Given the description of an element on the screen output the (x, y) to click on. 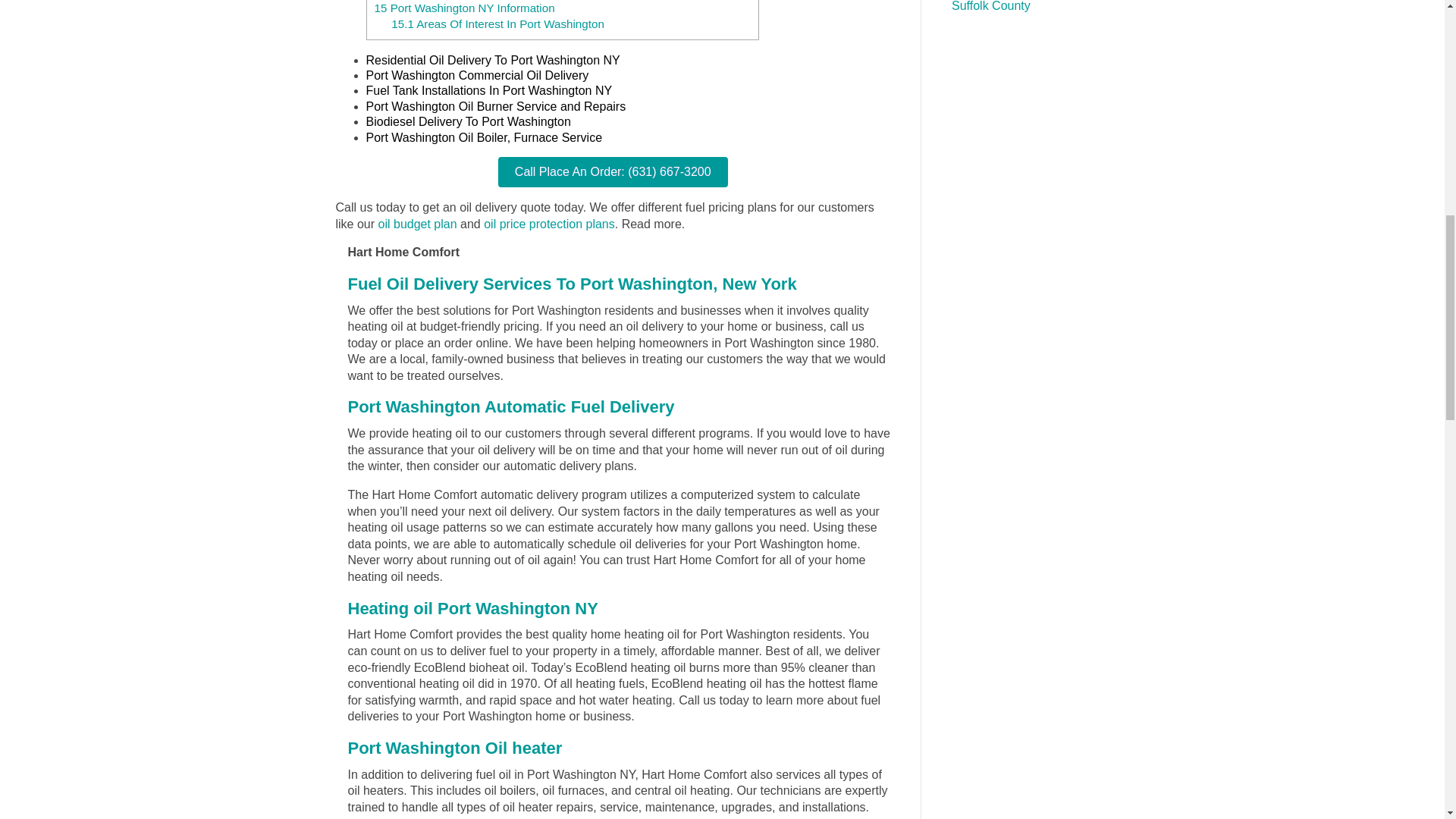
Read more. (653, 227)
